Given the description of an element on the screen output the (x, y) to click on. 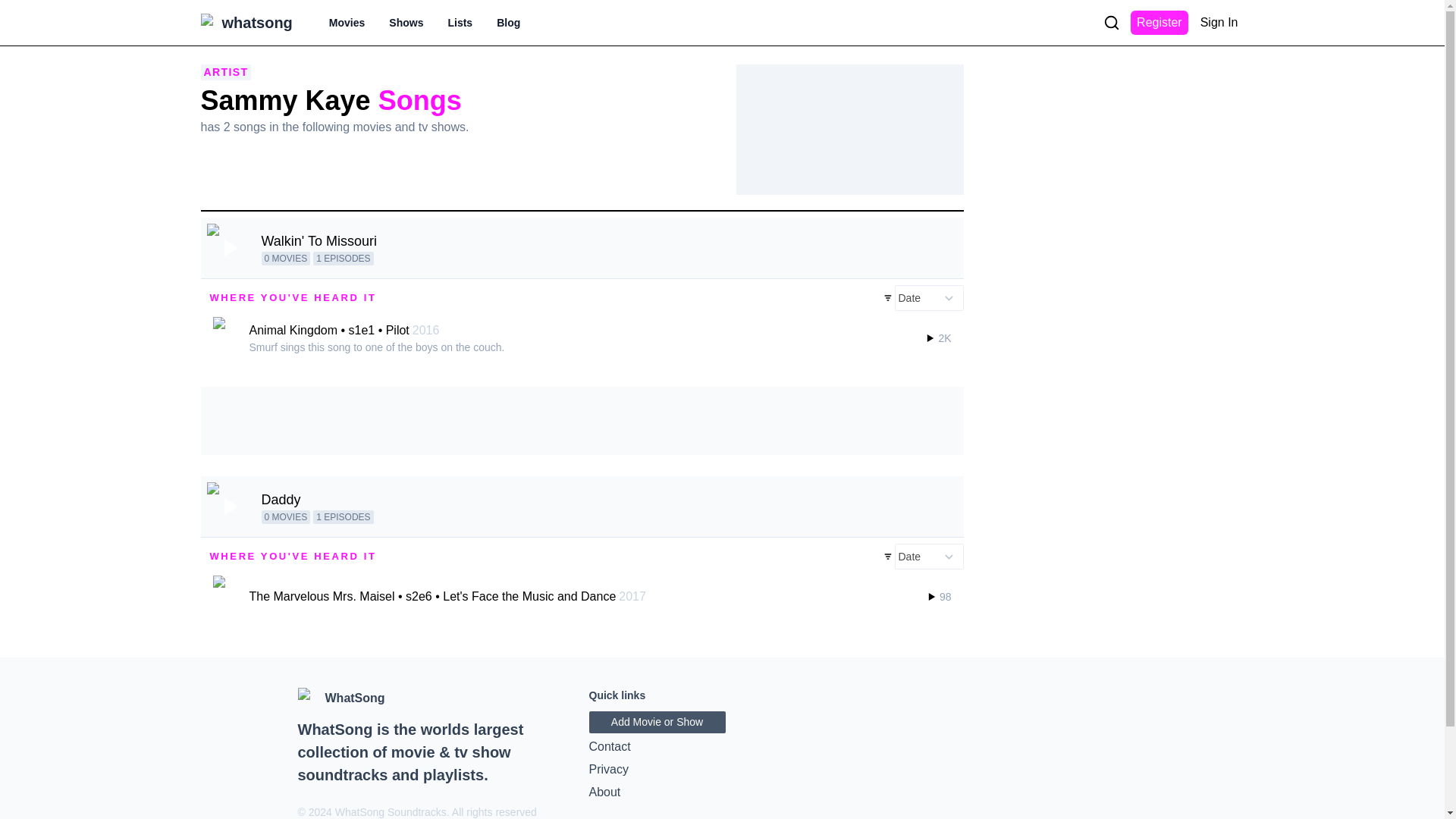
Privacy (722, 769)
Sign In (1218, 22)
Walkin' To Missouri (317, 240)
Blog (507, 23)
Contact (722, 746)
whatsong (256, 22)
Daddy (279, 499)
Register (1159, 22)
About (722, 791)
Add Movie or Show (656, 722)
